Given the description of an element on the screen output the (x, y) to click on. 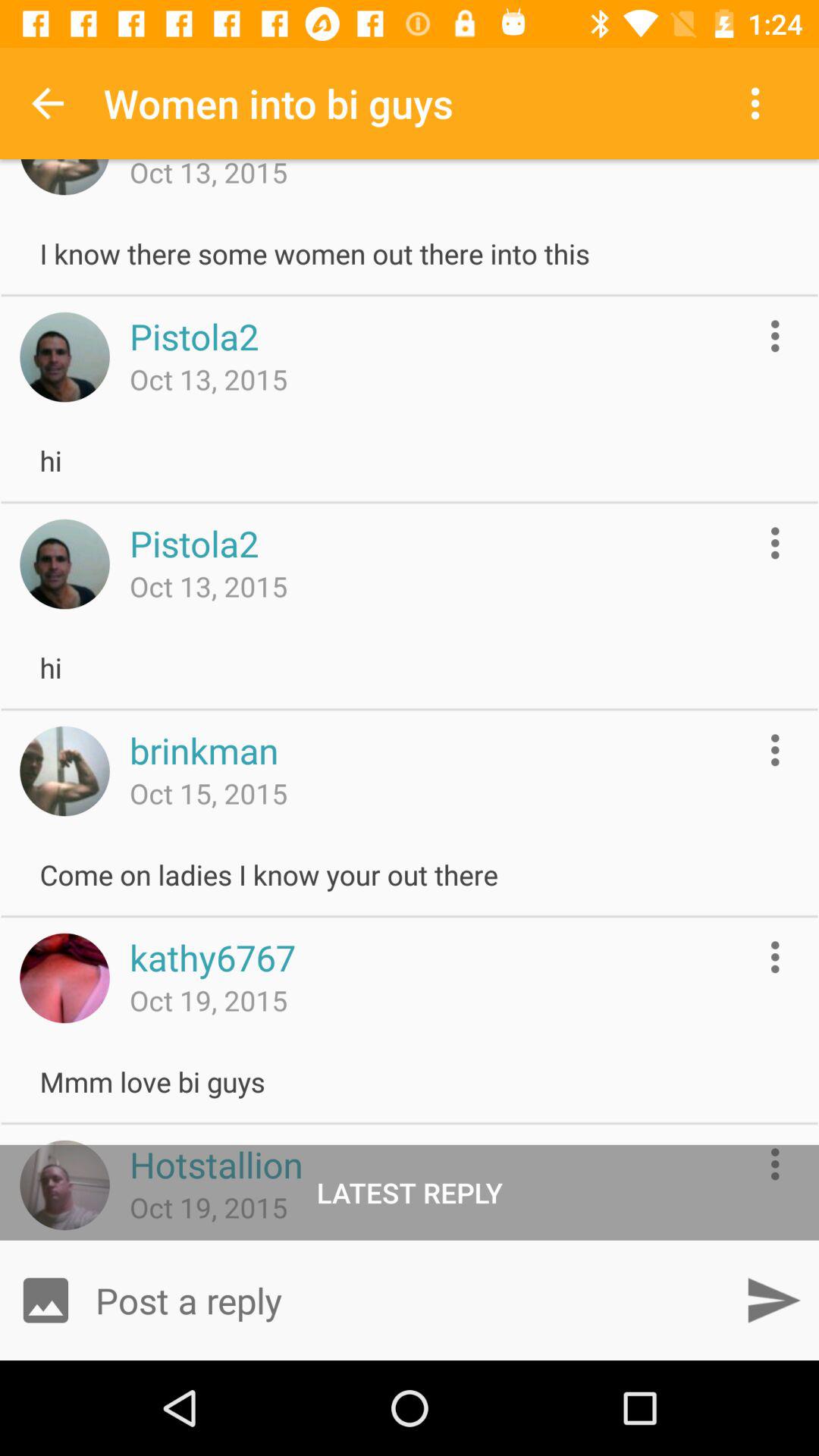
send (773, 1300)
